Given the description of an element on the screen output the (x, y) to click on. 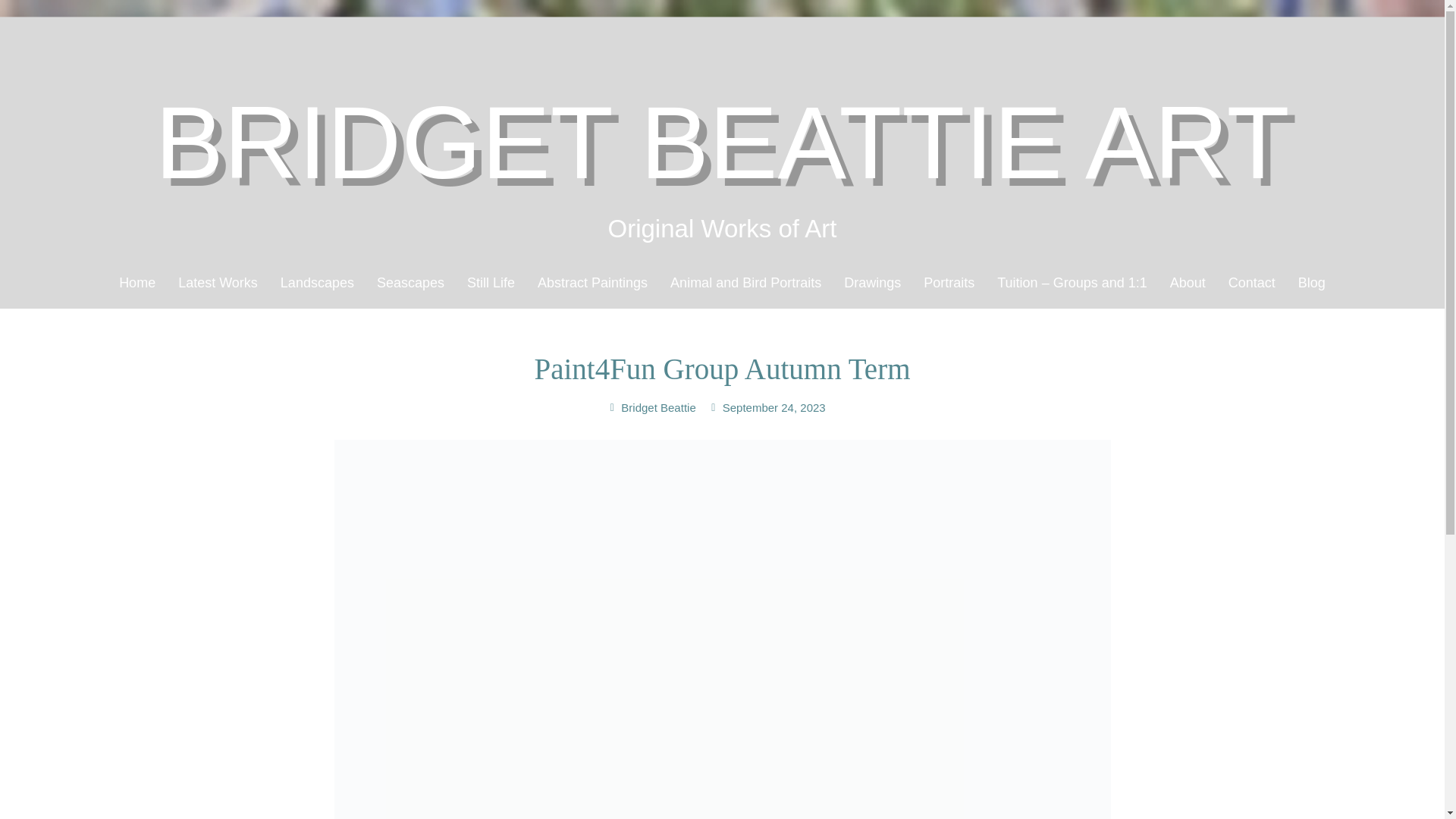
Bridget Beattie (651, 407)
Animal and Bird Portraits (745, 282)
Home (137, 282)
Portraits (948, 282)
Contact (1252, 282)
About (1187, 282)
Drawings (872, 282)
Still Life (490, 282)
Abstract Paintings (592, 282)
Landscapes (317, 282)
Seascapes (410, 282)
September 24, 2023 (766, 407)
Latest Works (218, 282)
Blog (1311, 282)
